Given the description of an element on the screen output the (x, y) to click on. 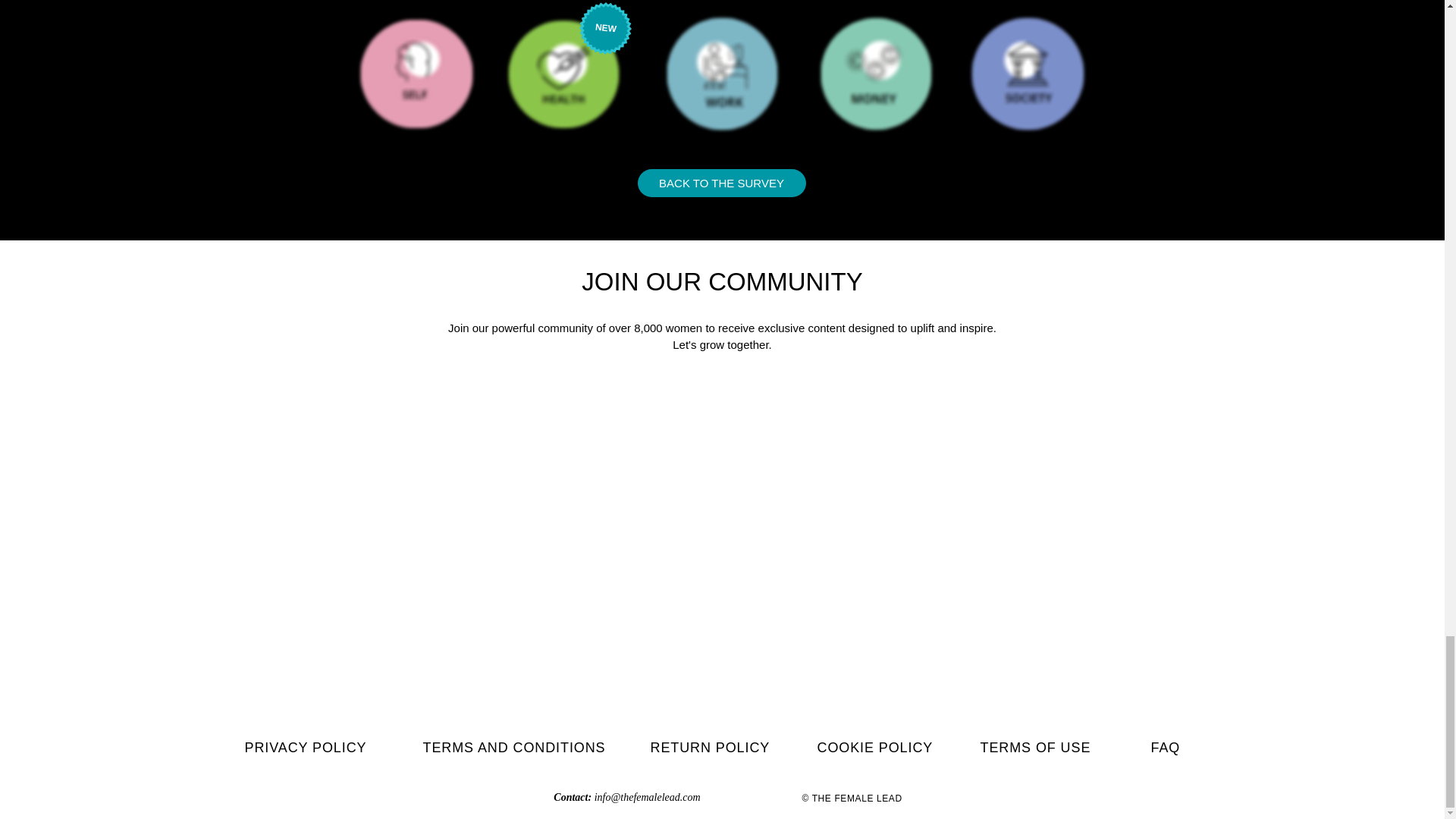
BACK TO THE SURVEY (721, 182)
